Given the description of an element on the screen output the (x, y) to click on. 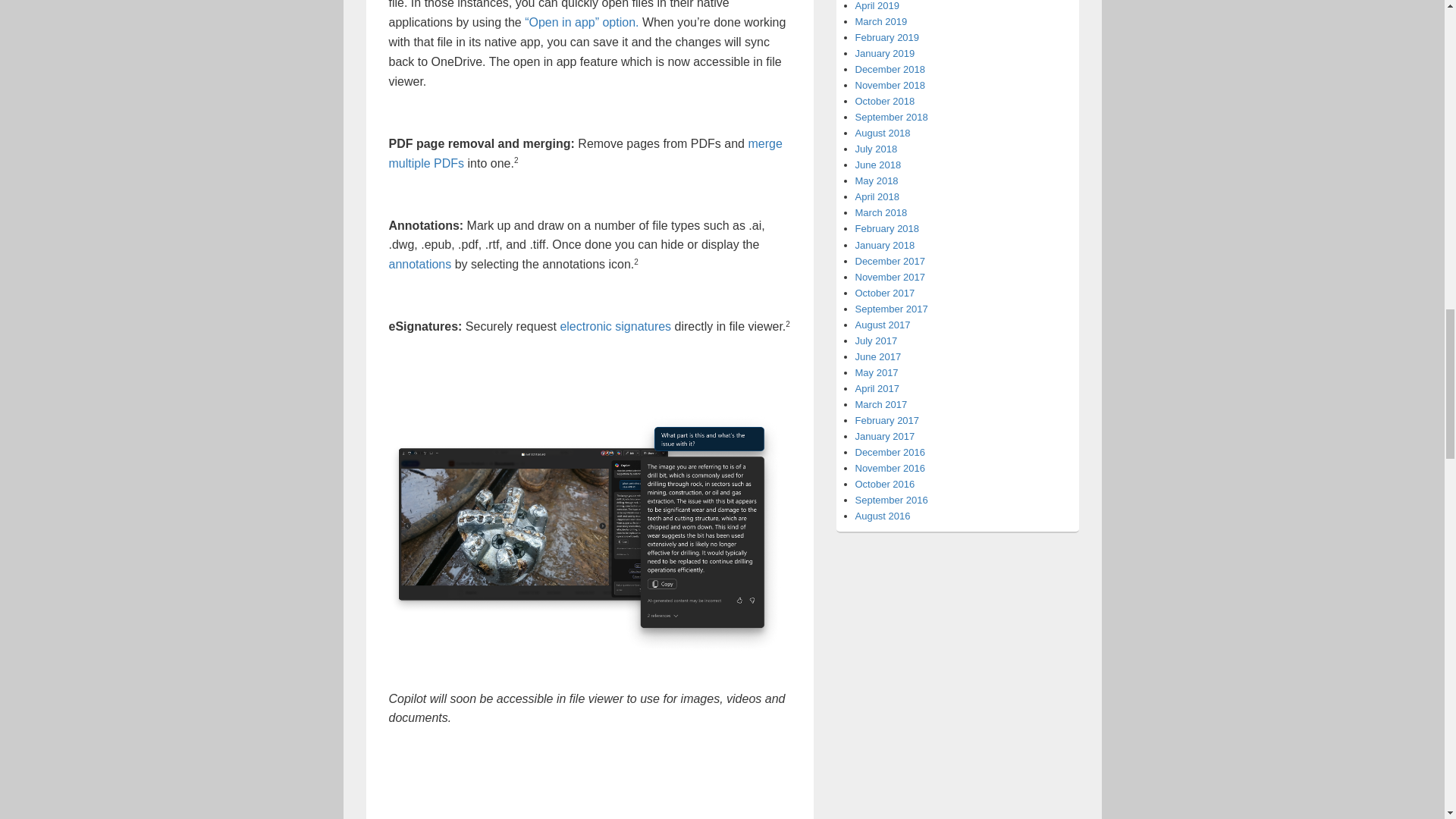
merge multiple PDFs (584, 153)
annotations (419, 264)
File Viewer (501, 817)
electronic signatures (615, 326)
OneDrive1.png (589, 533)
